Given the description of an element on the screen output the (x, y) to click on. 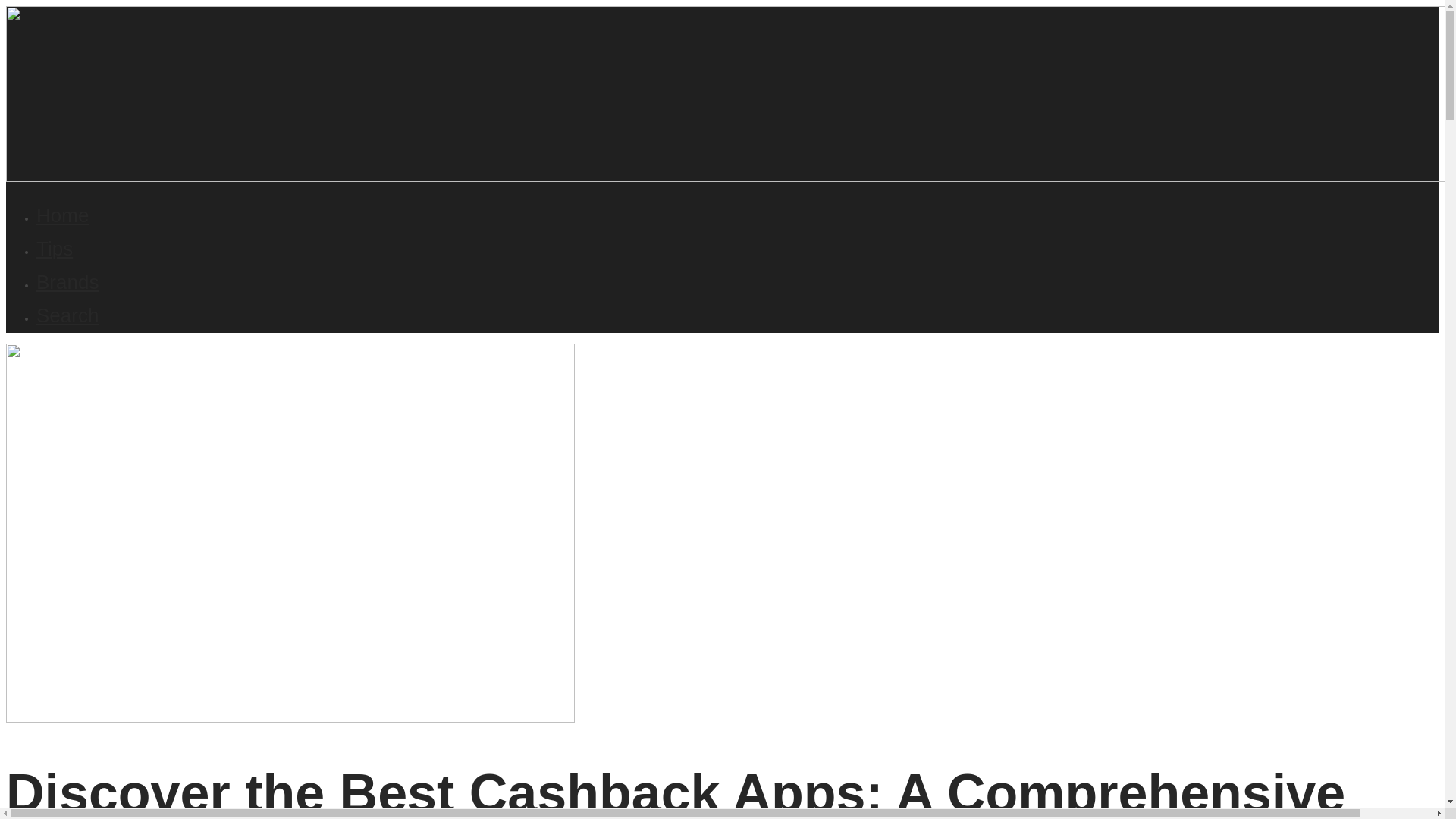
Tips (54, 248)
Tips (54, 248)
Search (67, 314)
Home (62, 214)
Brands (67, 282)
Home (62, 214)
Brands (67, 282)
Search (67, 314)
